Given the description of an element on the screen output the (x, y) to click on. 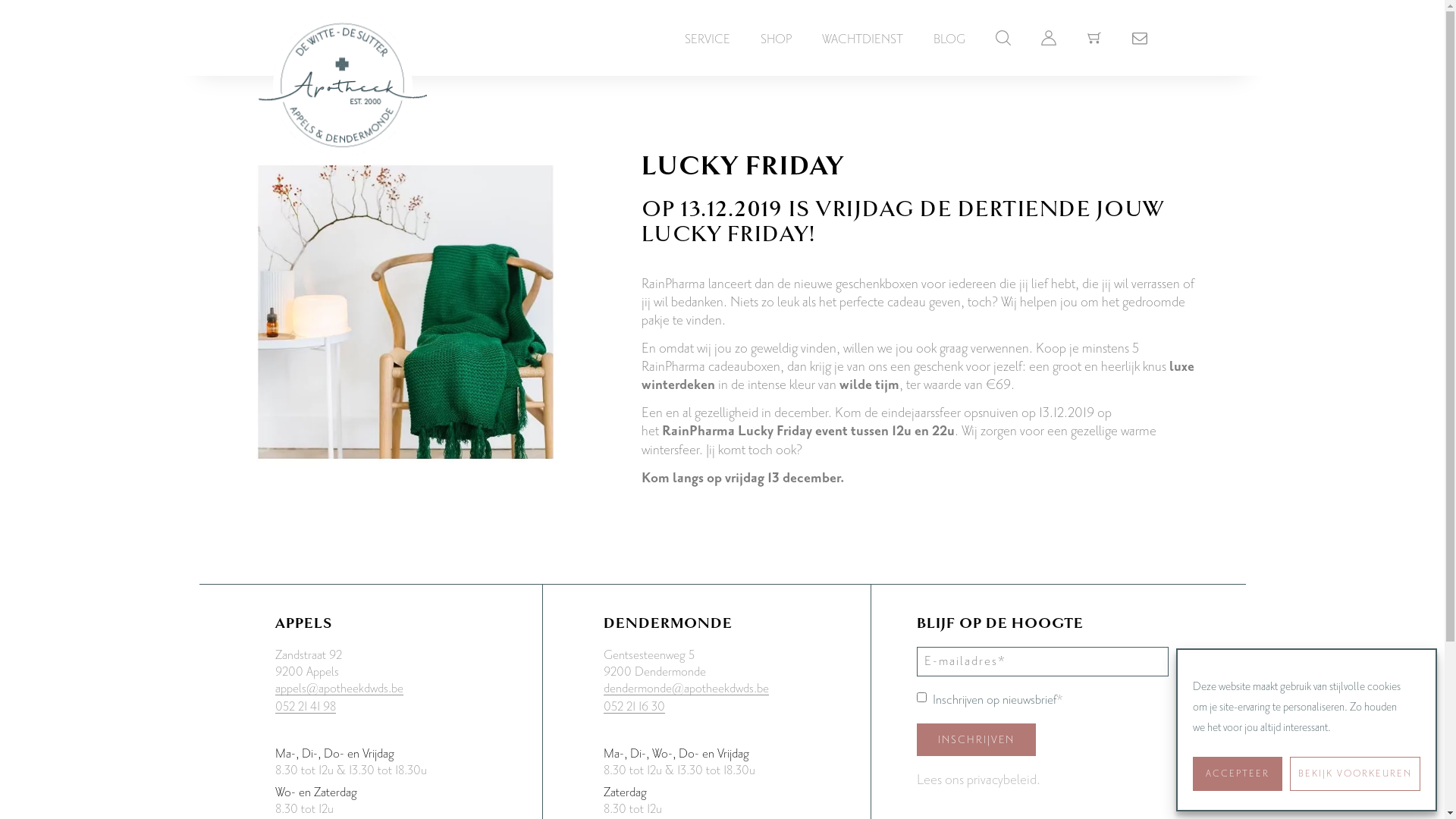
WACHTDIENST Element type: text (862, 39)
Inschrijven Element type: text (975, 739)
WINKELMAND Element type: text (1093, 35)
CONTACT Element type: text (1138, 35)
MIJN ACCOUNT Element type: text (1047, 35)
ZOEKEN Element type: text (1002, 35)
Zoeken Element type: text (884, 30)
BLOG Element type: text (948, 39)
Ga naar de homepagina Element type: hover (341, 70)
dendermonde@apotheekdwds.be Element type: text (685, 688)
appels@apotheekdwds.be Element type: text (338, 688)
052 21 16 30 Element type: text (634, 706)
Lees ons privacybeleid. Element type: text (978, 780)
ACCEPTEER Element type: text (1237, 773)
052 21 41 98 Element type: text (304, 706)
BEKIJK VOORKEUREN Element type: text (1354, 773)
